Given the description of an element on the screen output the (x, y) to click on. 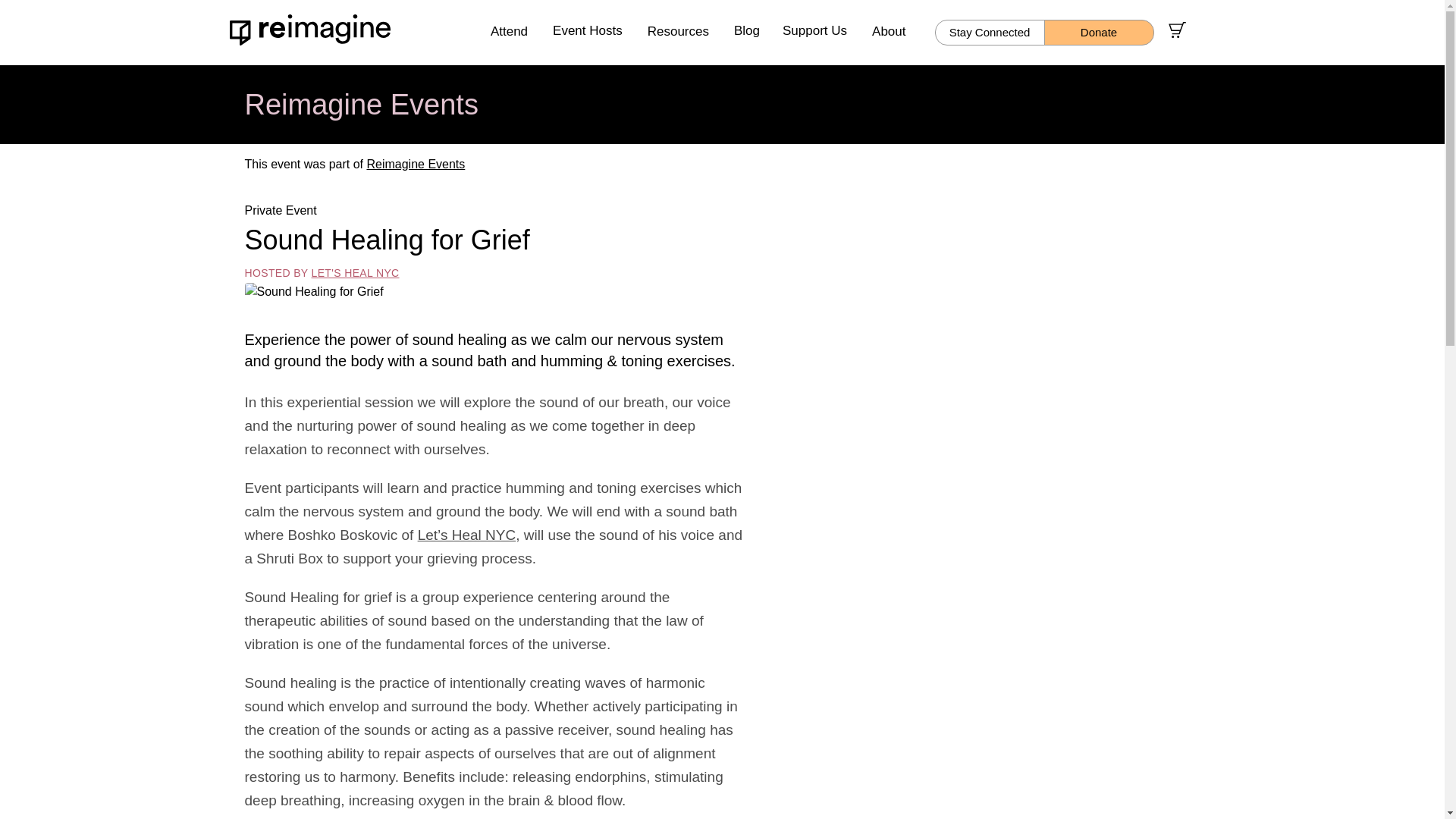
Home (312, 29)
Blog (746, 32)
Donate (1098, 32)
Event Hosts (587, 32)
About (888, 30)
Support Us (815, 32)
Attend (509, 30)
Stay Connected (988, 32)
Resources (677, 30)
